Given the description of an element on the screen output the (x, y) to click on. 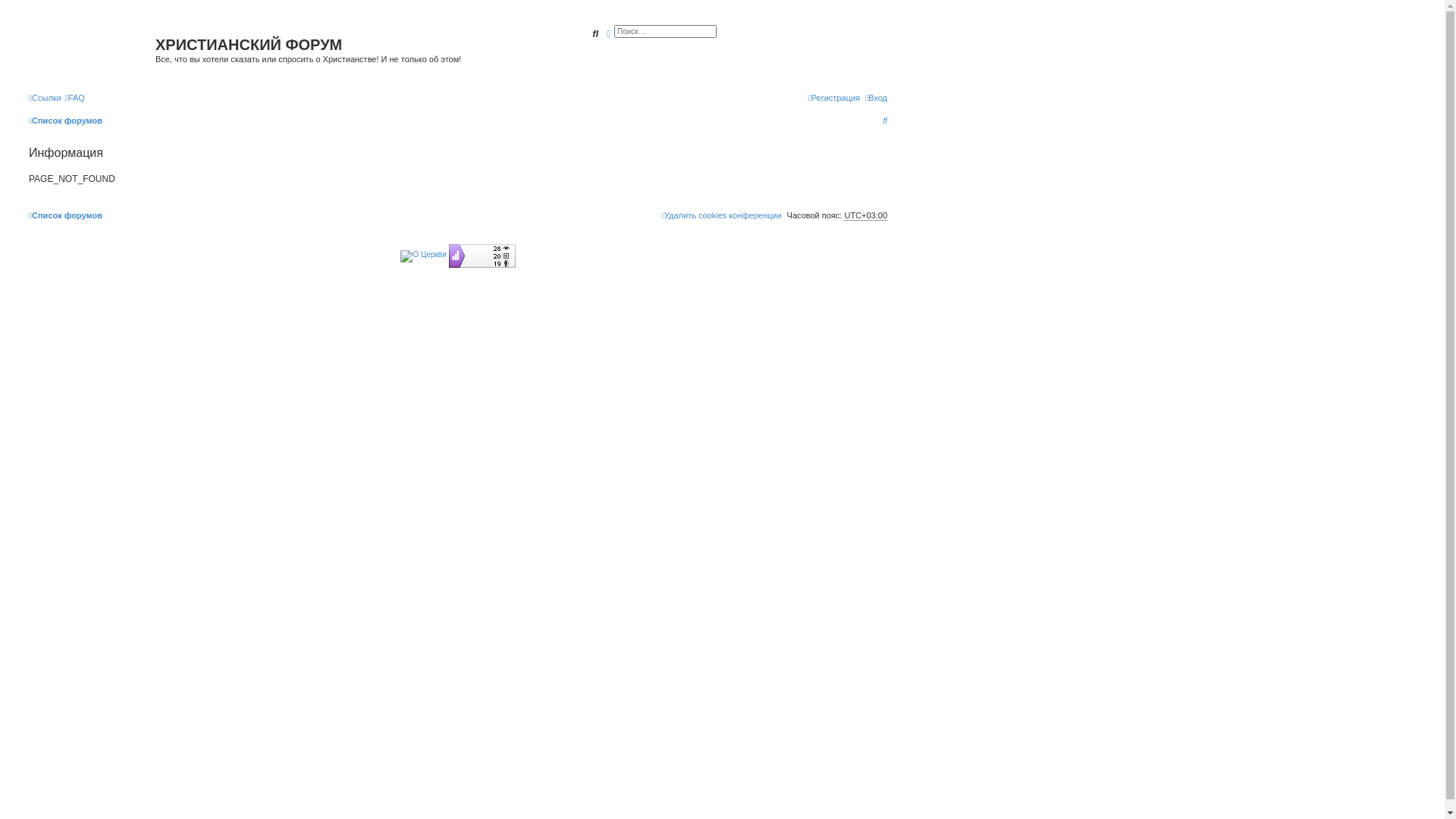
FAQ Element type: text (74, 97)
